Given the description of an element on the screen output the (x, y) to click on. 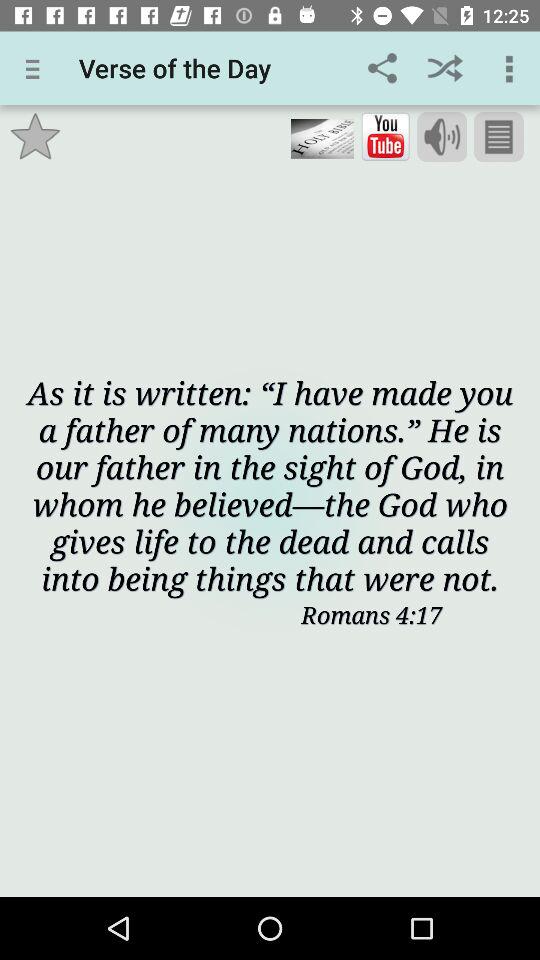
press item above as it is icon (442, 137)
